Given the description of an element on the screen output the (x, y) to click on. 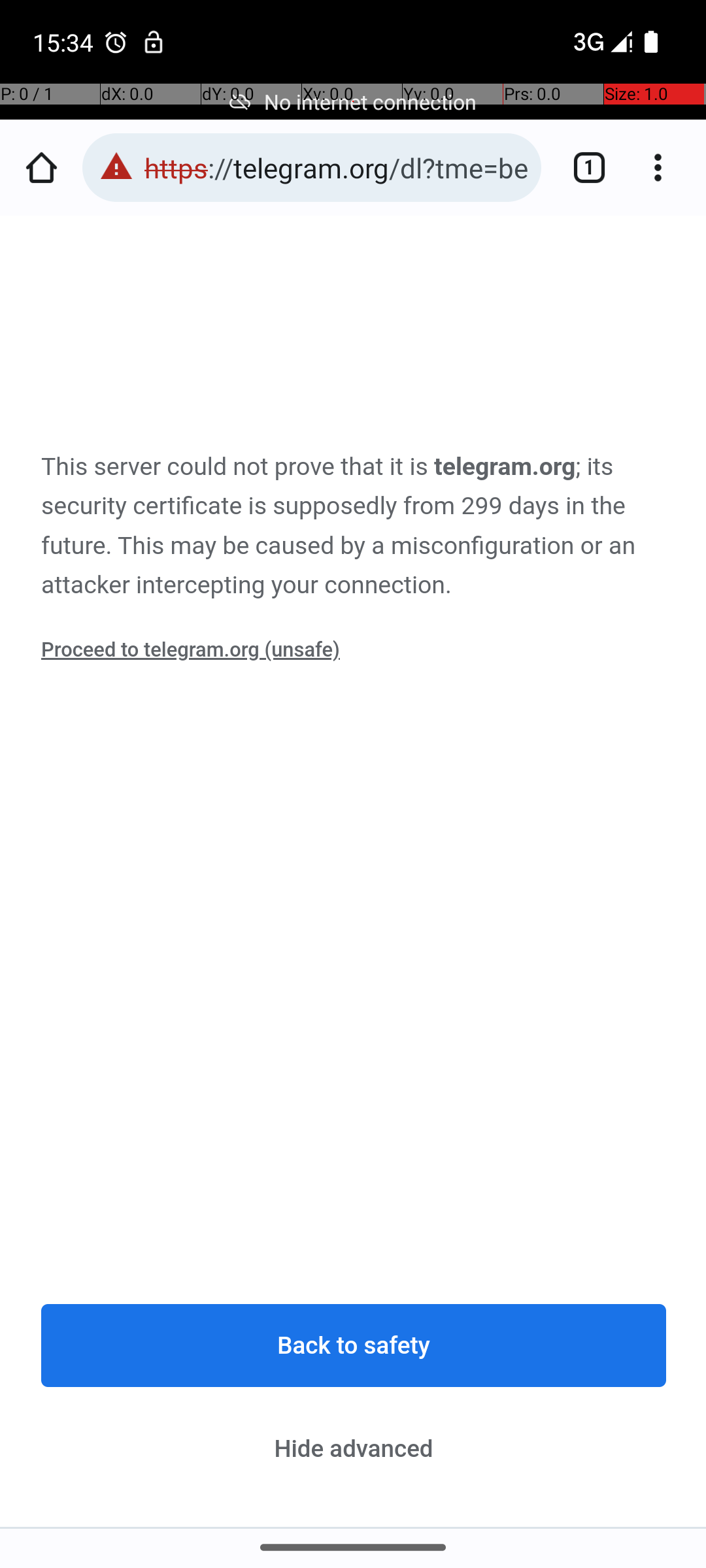
https://telegram.org/dl?tme=be25f54f57a3168e0a_1626304079493331251 Element type: android.widget.EditText (335, 167)
Hide advanced Element type: android.widget.Button (354, 1448)
This server could not prove that it is telegram.org; its security certificate is supposedly from 299 days in the future. This may be caused by a misconfiguration or an attacker intercepting your connection. Element type: android.widget.TextView (354, 526)
Proceed to telegram.org (unsafe) Element type: android.view.View (191, 650)
